Given the description of an element on the screen output the (x, y) to click on. 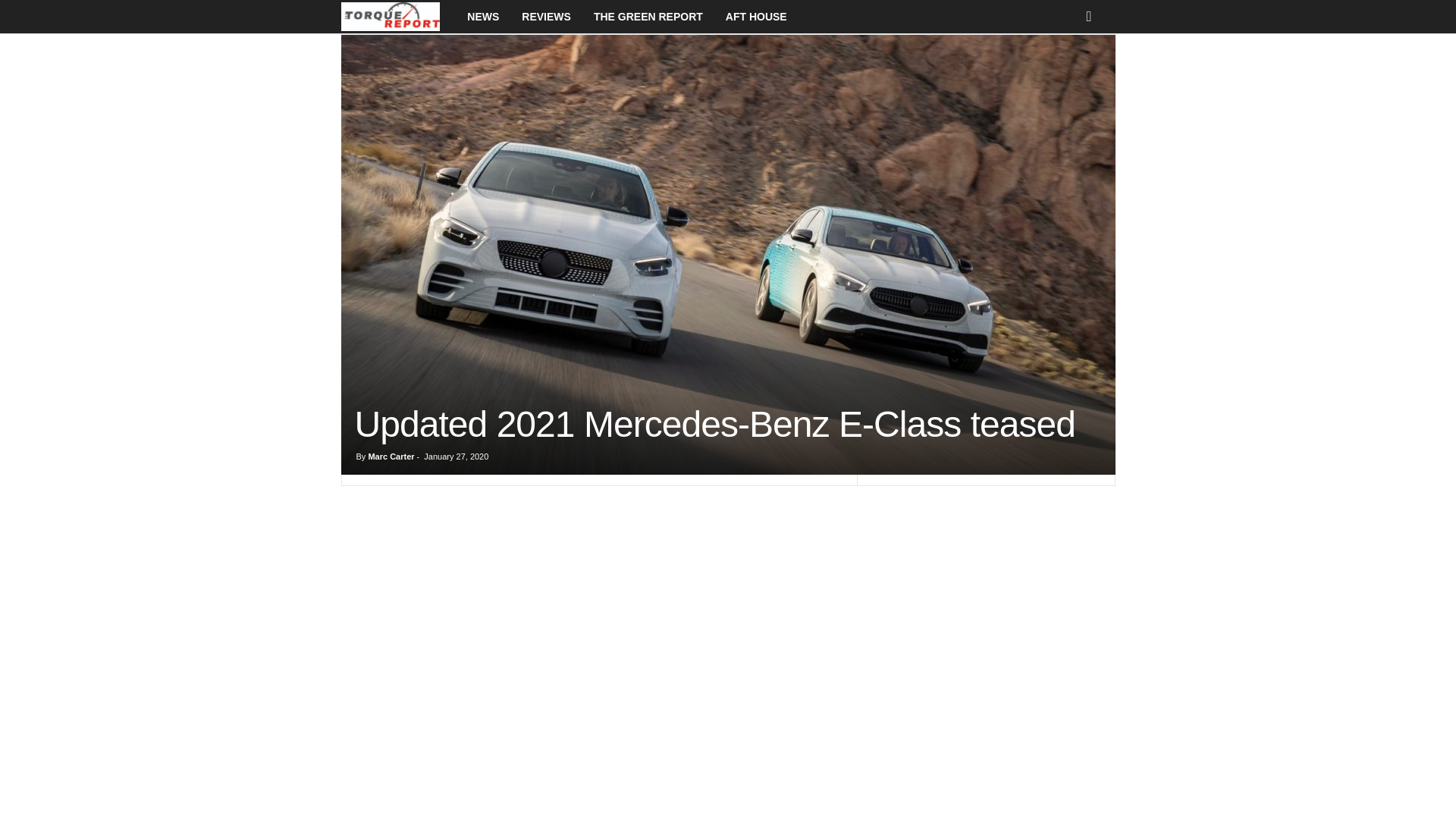
THE GREEN REPORT (648, 16)
The Torque Report (398, 17)
AFT HOUSE (755, 16)
Marc Carter (390, 456)
REVIEWS (546, 16)
NEWS (483, 16)
